Given the description of an element on the screen output the (x, y) to click on. 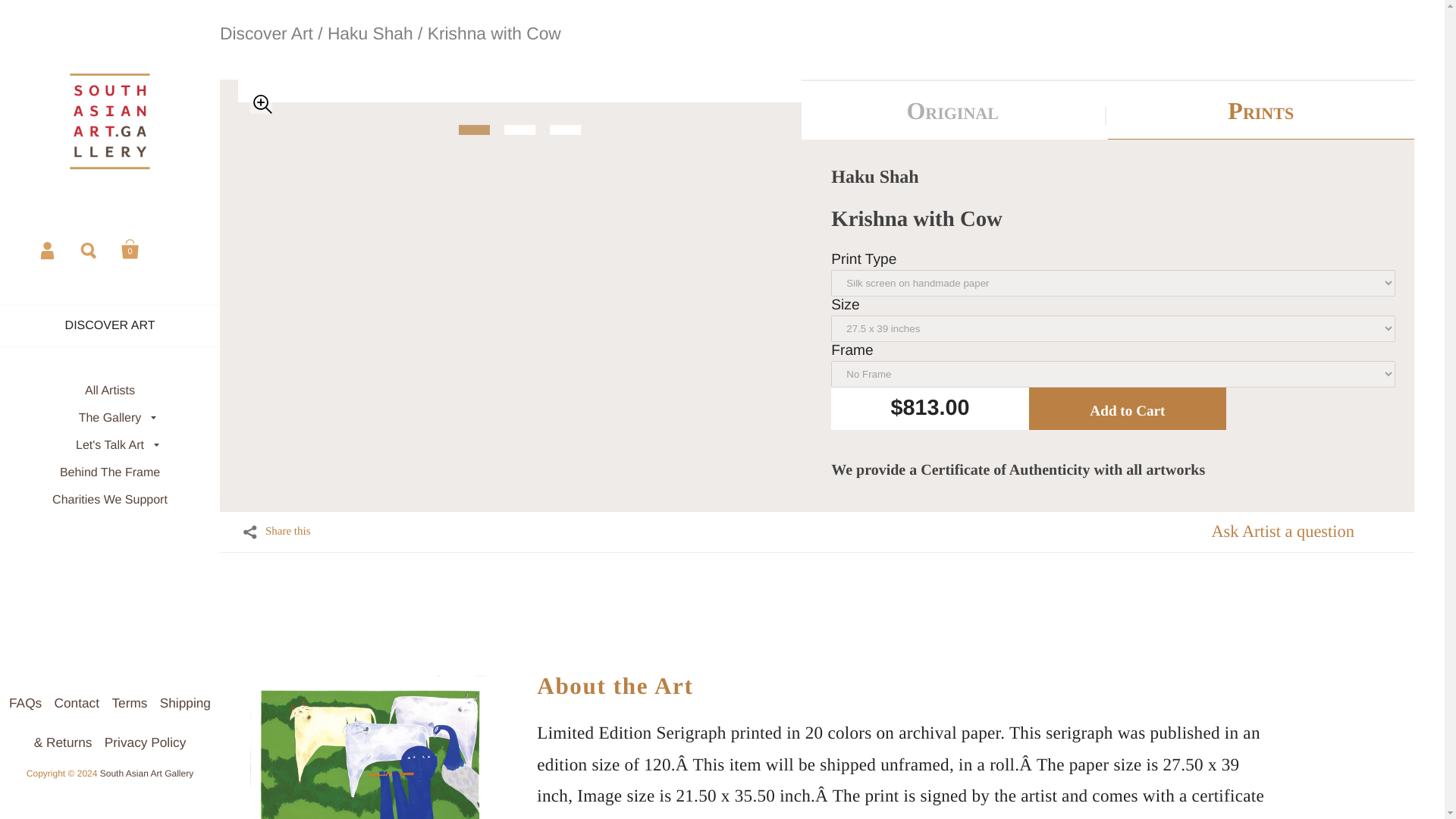
Behind The Frame (109, 472)
Krishna with Cow (494, 33)
All Artists (109, 390)
Terms (134, 702)
Add to Cart (1127, 408)
Let's Talk Art (109, 445)
Search (89, 248)
Account (48, 248)
DISCOVER ART (109, 326)
Discover Art (266, 33)
